Given the description of an element on the screen output the (x, y) to click on. 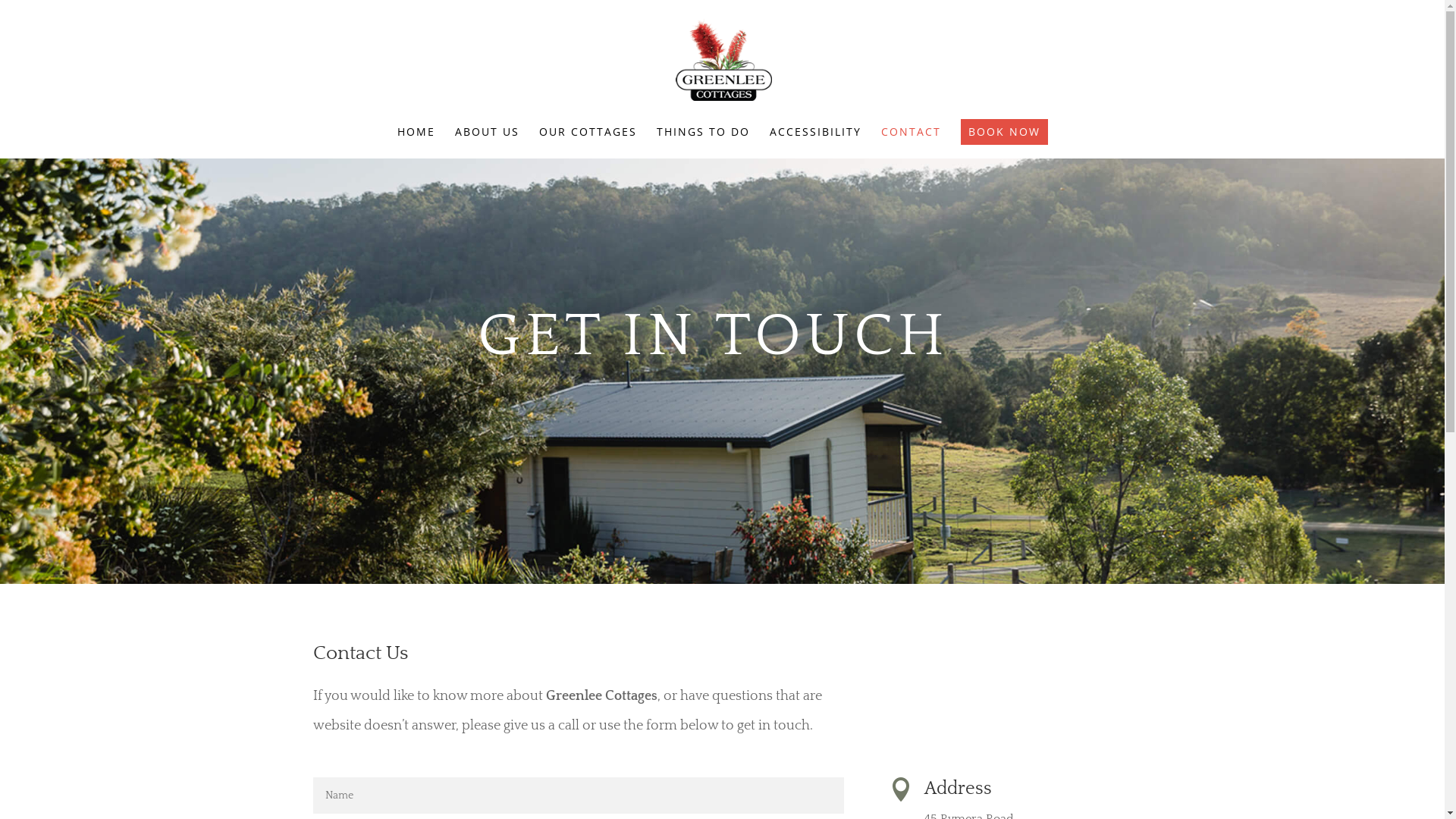
HOME Element type: text (416, 142)
BOOK NOW Element type: text (1003, 131)
CONTACT Element type: text (911, 142)
OUR COTTAGES Element type: text (587, 142)
ABOUT US Element type: text (487, 142)
THINGS TO DO Element type: text (702, 142)
ACCESSIBILITY Element type: text (814, 142)
